Given the description of an element on the screen output the (x, y) to click on. 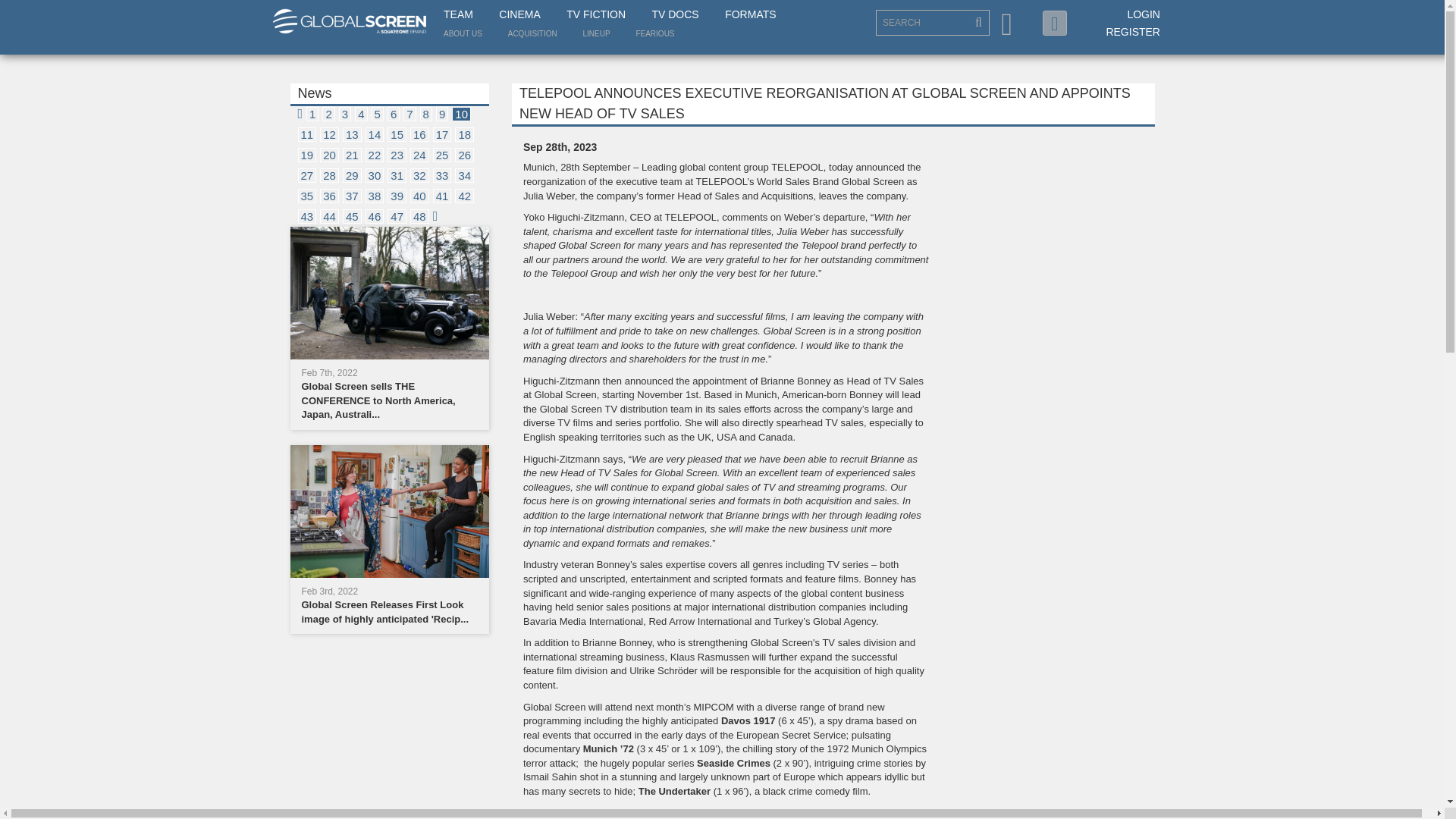
LOGIN (1143, 14)
FORMATS (750, 14)
FEARIOUS (654, 33)
TEAM (458, 14)
REGISTER (1132, 31)
ACQUISITION (532, 33)
ABOUT US (462, 33)
TV DOCS (674, 14)
CINEMA (519, 14)
TV FICTION (596, 14)
LINEUP (596, 33)
